Given the description of an element on the screen output the (x, y) to click on. 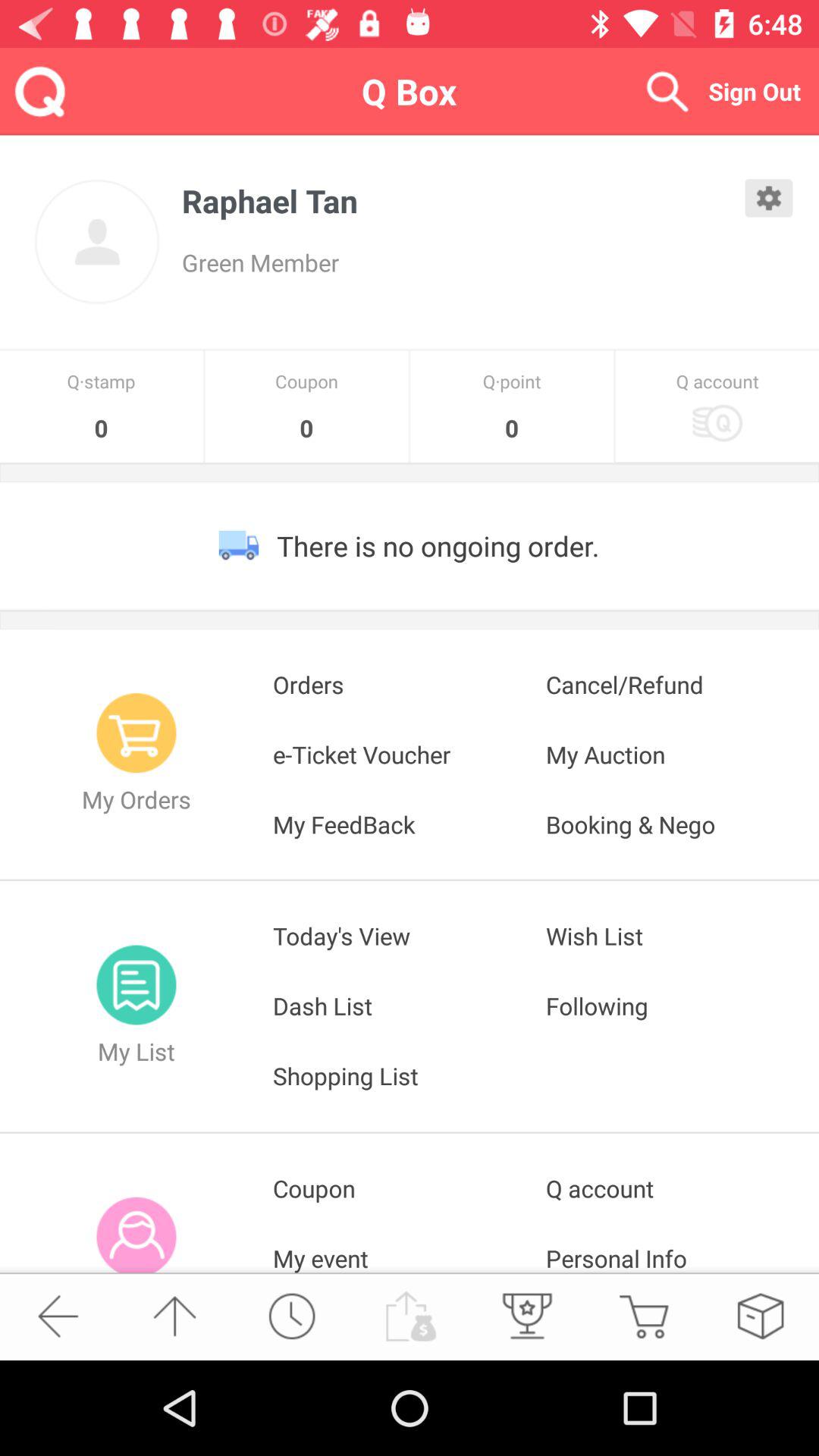
open icon next to the cancel/refund (409, 754)
